Given the description of an element on the screen output the (x, y) to click on. 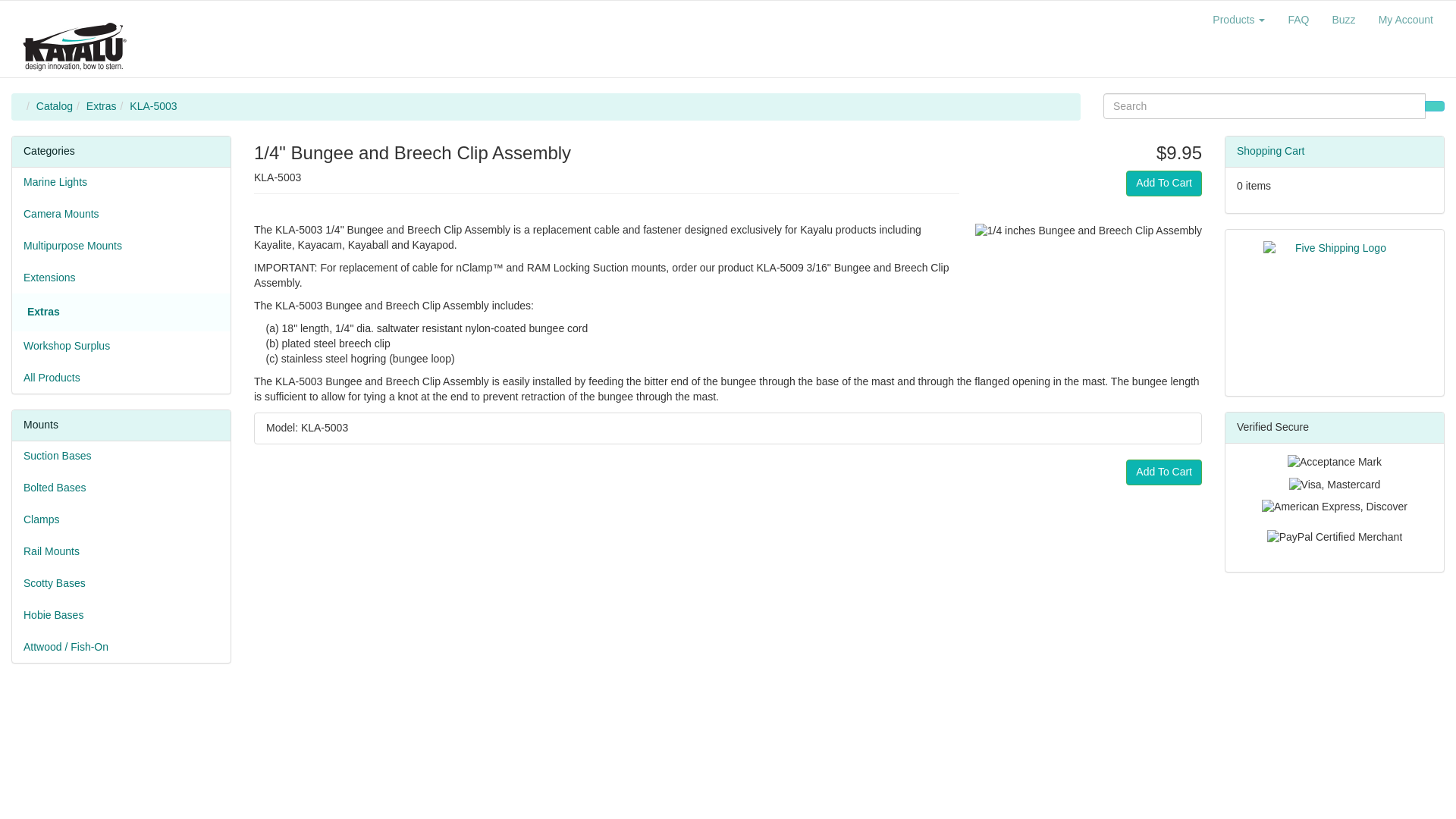
Catalog (54, 105)
Extras (43, 311)
Hobie Bases (120, 615)
Rail Mounts (120, 552)
Add To Cart (1163, 183)
Suction Bases (120, 456)
Camera Mounts (120, 214)
Clamps (120, 520)
All Products (120, 378)
Workshop Surplus (120, 346)
